Given the description of an element on the screen output the (x, y) to click on. 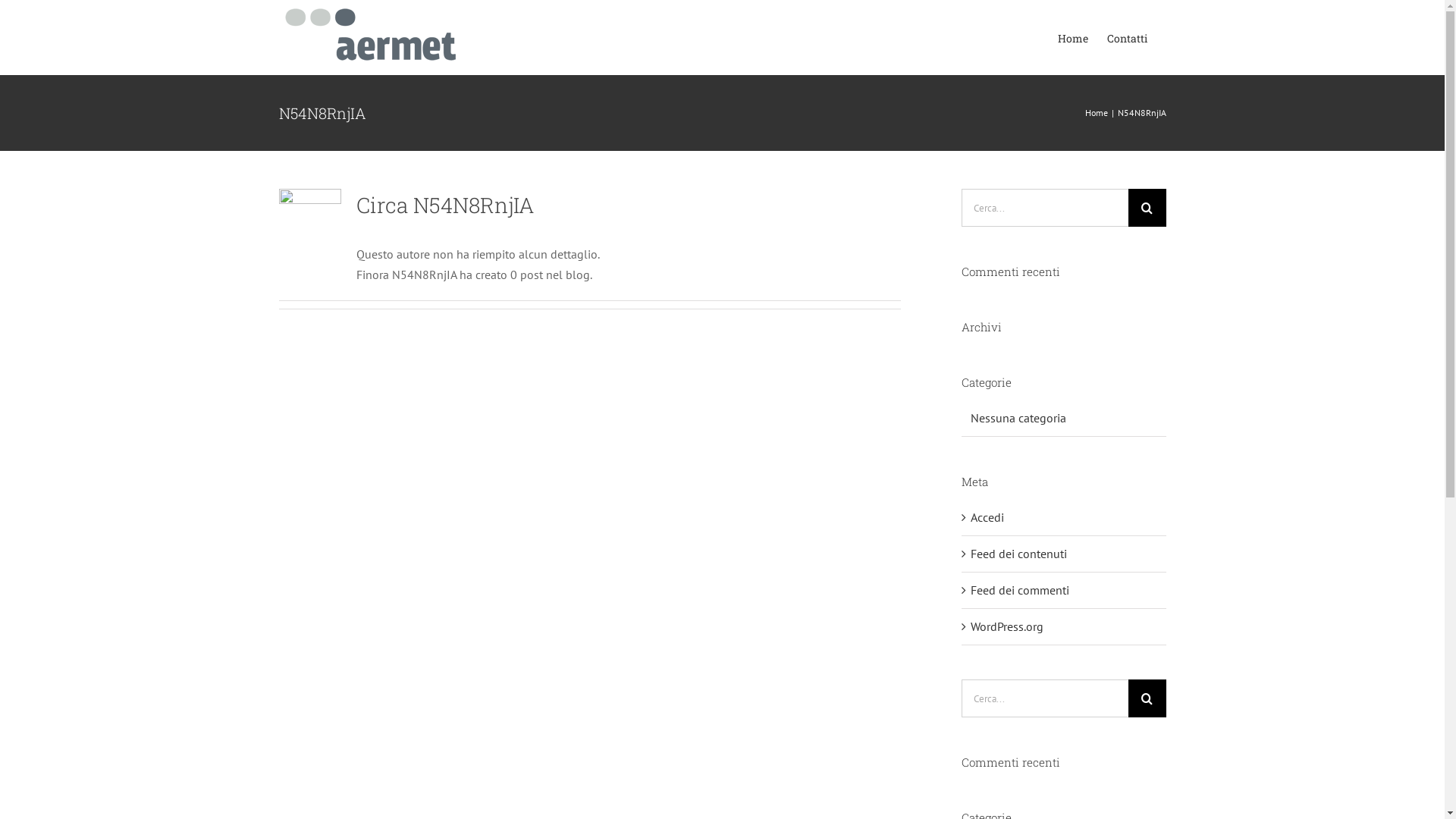
Feed dei contenuti Element type: text (1018, 553)
Feed dei commenti Element type: text (1019, 589)
Home Element type: text (1095, 112)
WordPress.org Element type: text (1006, 625)
Accedi Element type: text (987, 516)
Home Element type: text (1072, 37)
Contatti Element type: text (1127, 37)
